Given the description of an element on the screen output the (x, y) to click on. 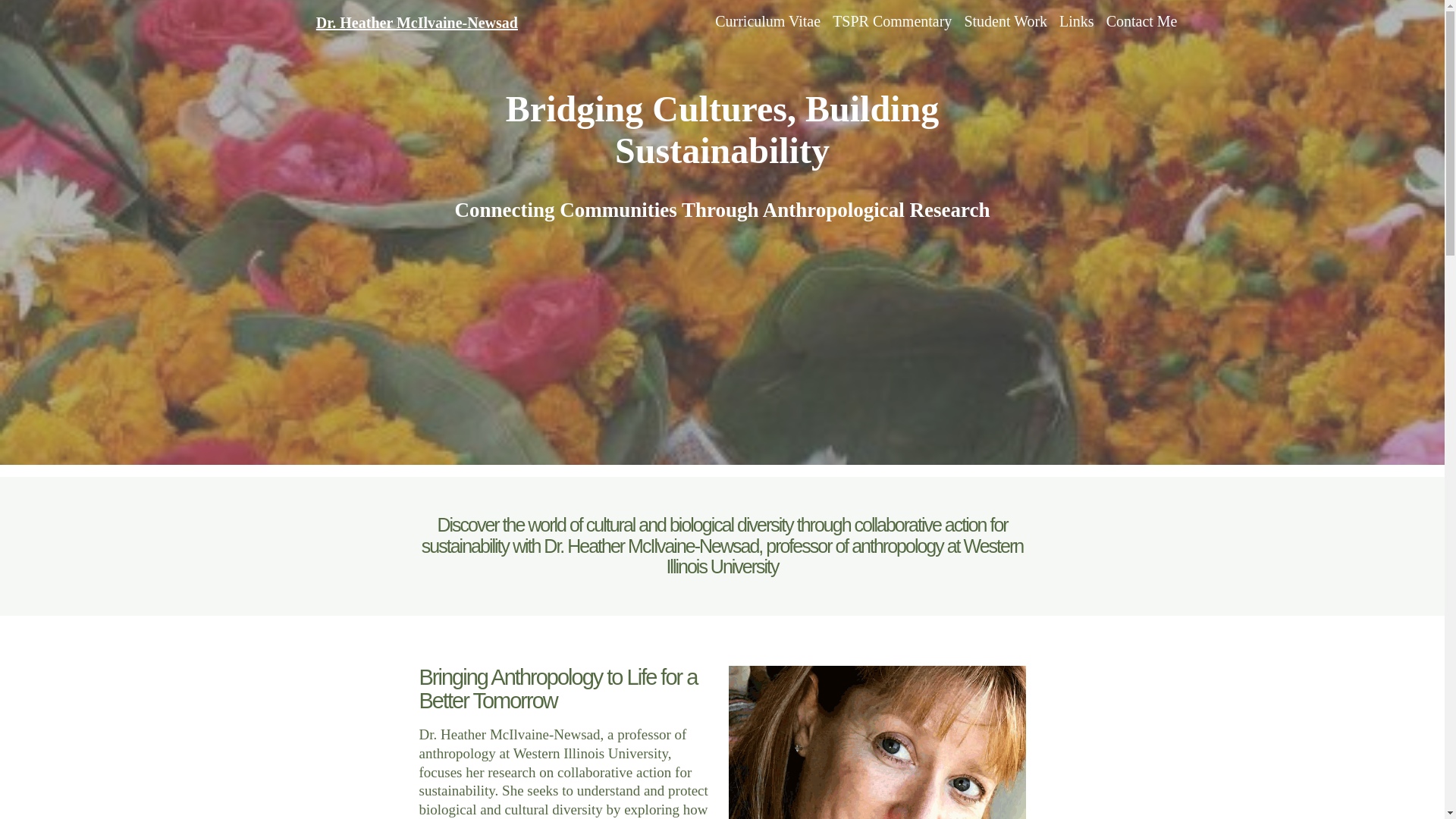
TSPR Commentary (892, 21)
Dr. Heather McIlvaine-Newsad (416, 22)
Student Work (1004, 21)
Contact Me (1141, 21)
Curriculum Vitae (767, 21)
Links (1076, 21)
